Given the description of an element on the screen output the (x, y) to click on. 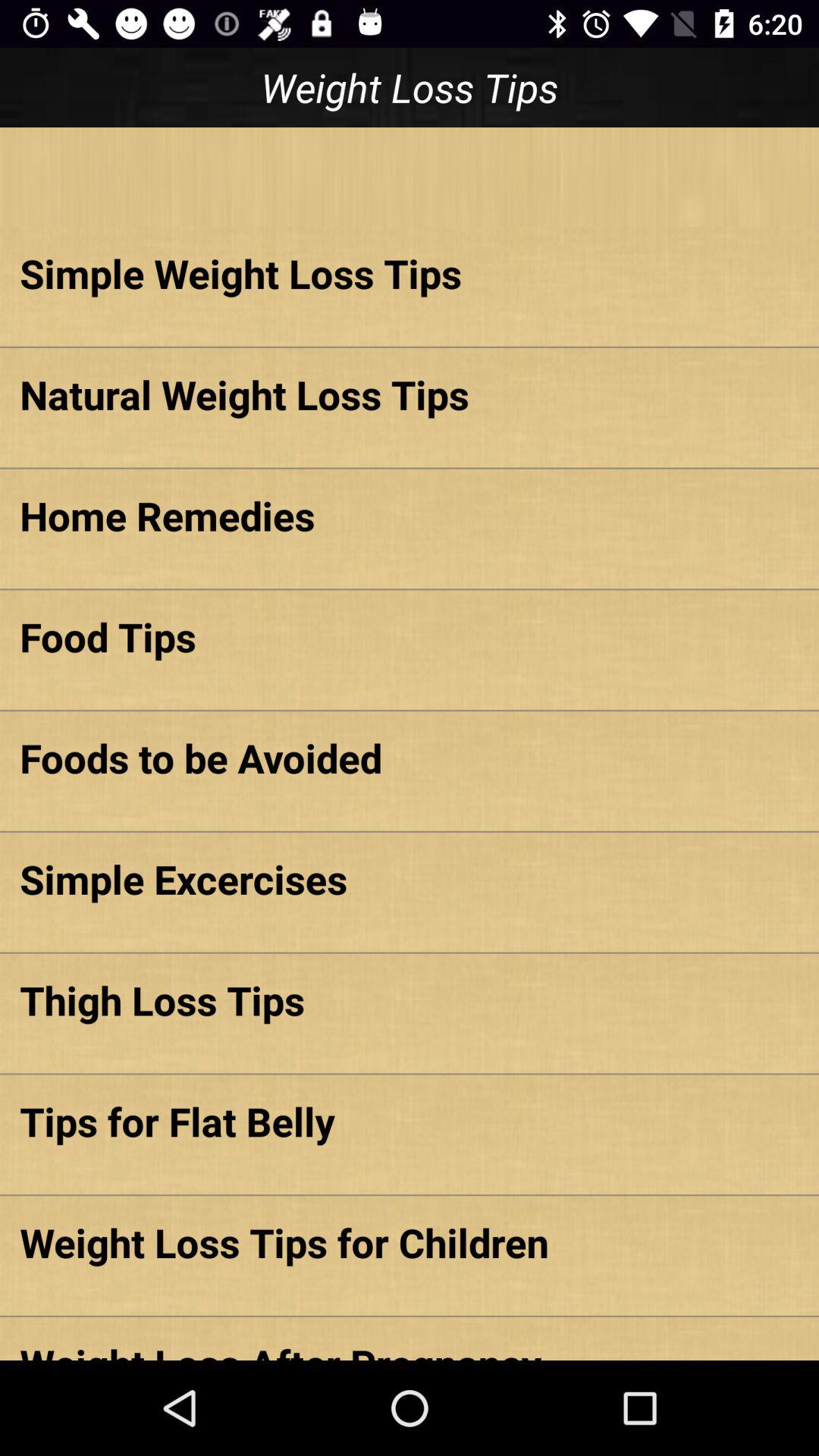
turn on the foods to be item (409, 757)
